Given the description of an element on the screen output the (x, y) to click on. 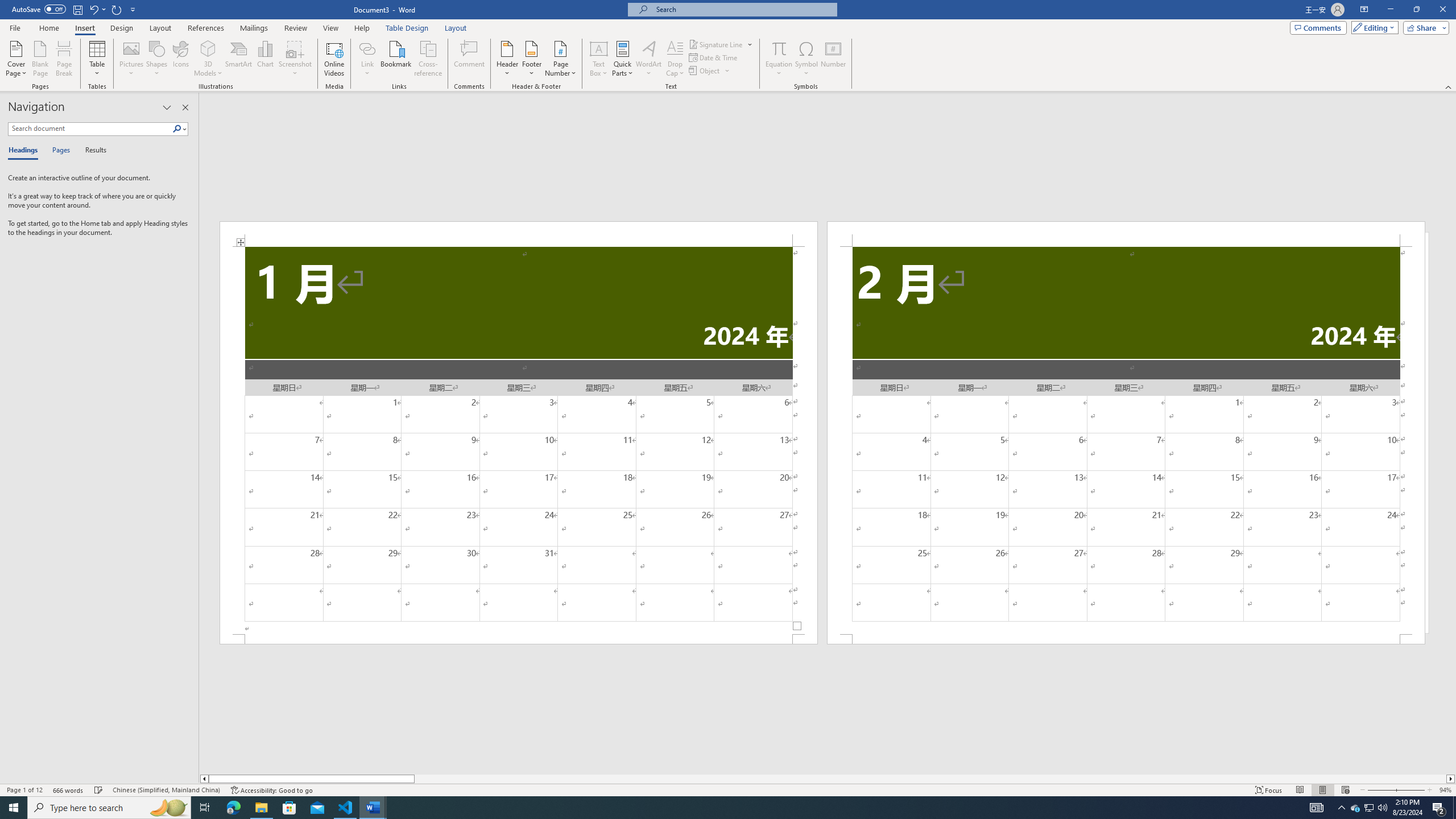
Signature Line (721, 44)
Review (295, 28)
Text Box (598, 58)
Footer -Section 1- (518, 638)
Blank Page (40, 58)
Table (97, 58)
Cross-reference... (428, 58)
Comments (1318, 27)
Help (361, 28)
Comment (469, 58)
Task Pane Options (167, 107)
Link (367, 58)
Collapse the Ribbon (1448, 86)
